Given the description of an element on the screen output the (x, y) to click on. 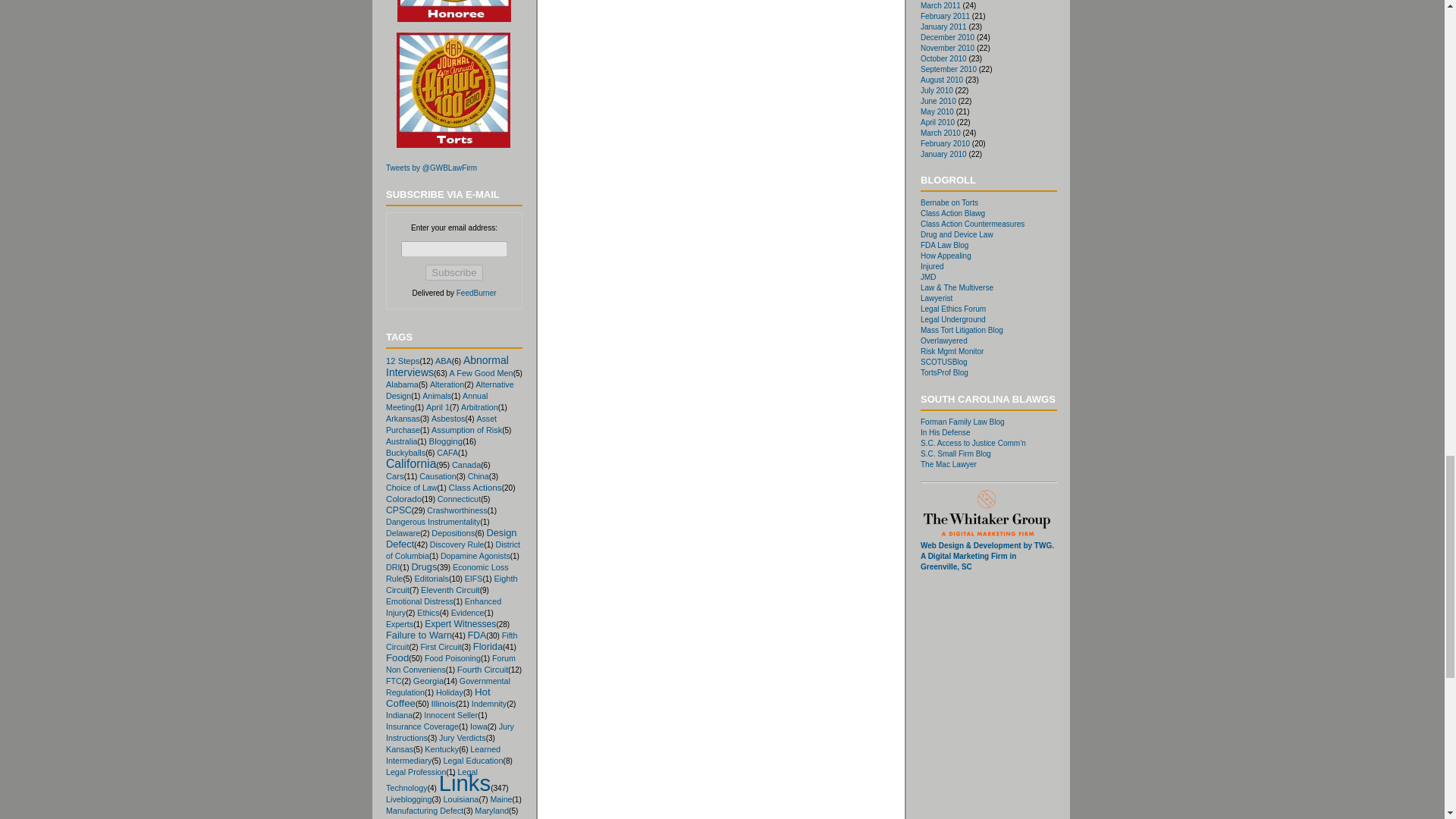
Subscribe (453, 272)
Asset Purchase (440, 424)
ABA (443, 360)
12 Steps (402, 360)
Alteration (446, 384)
2 (446, 384)
CAFA (447, 452)
1 (400, 440)
12 (402, 360)
Choice of Law (411, 487)
Abnormal Interviews (446, 365)
1 (440, 424)
Class Actions (475, 487)
6 (443, 360)
5 (466, 429)
